Given the description of an element on the screen output the (x, y) to click on. 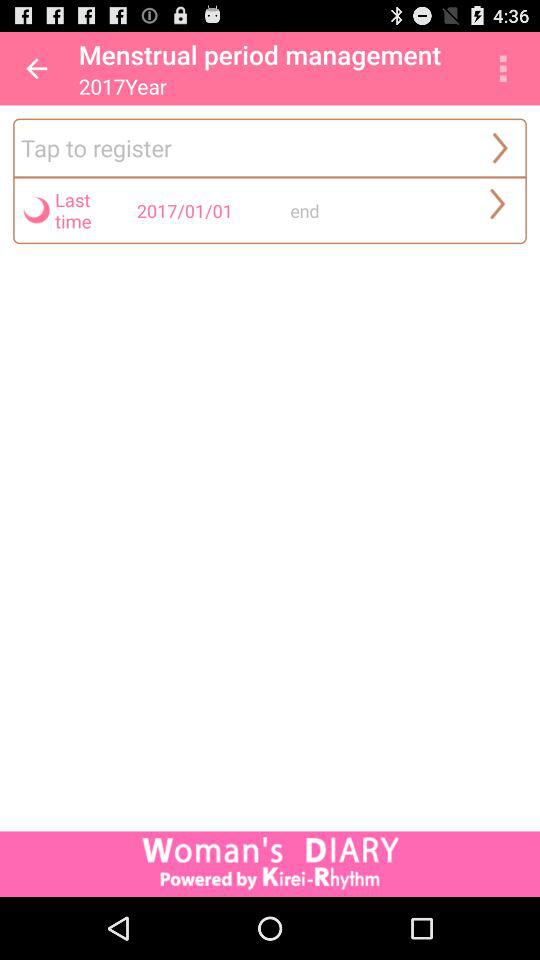
press item above tap to register (36, 68)
